Given the description of an element on the screen output the (x, y) to click on. 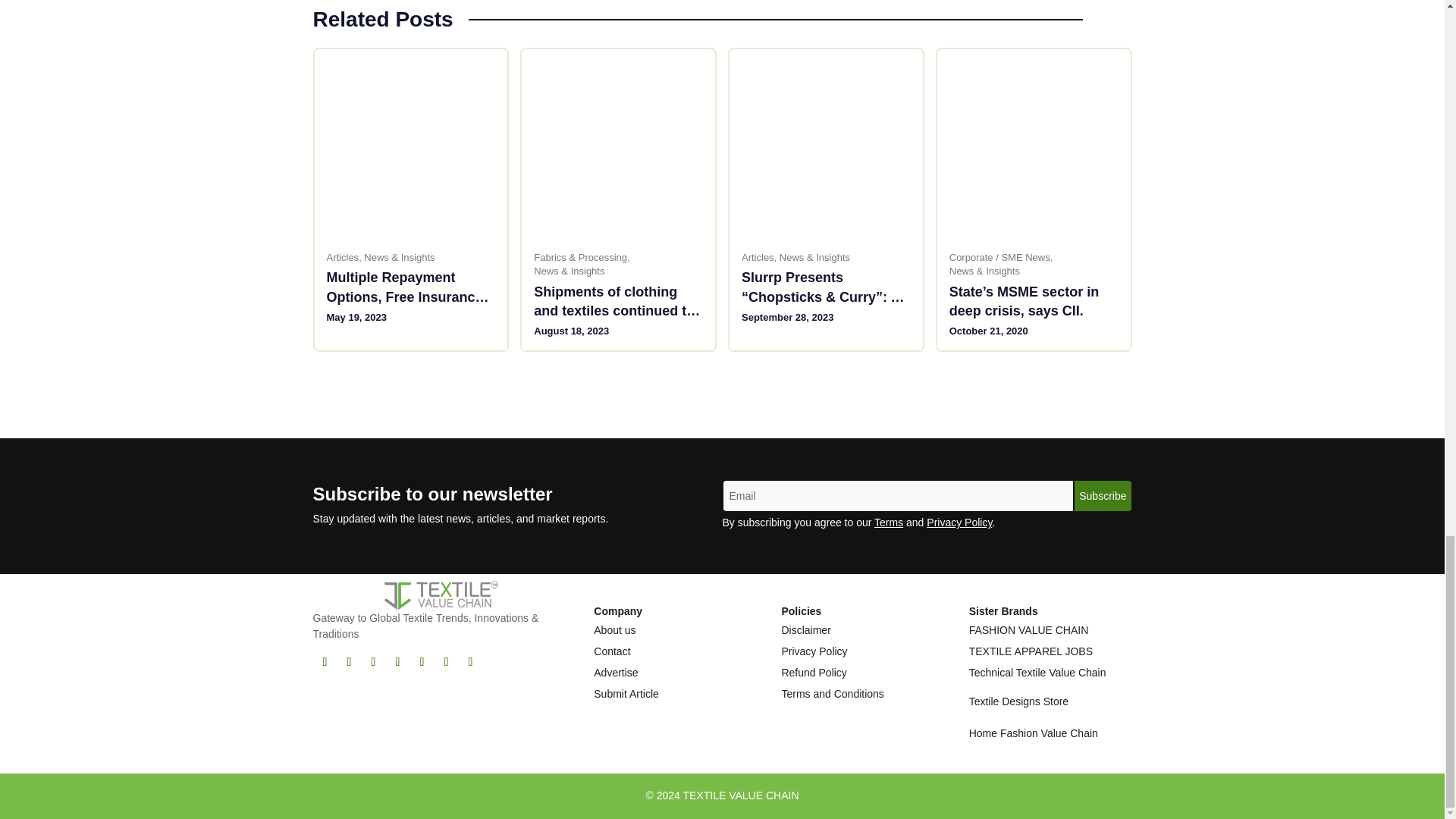
Articles (342, 257)
Subscribe (1102, 495)
Articles (757, 257)
